Given the description of an element on the screen output the (x, y) to click on. 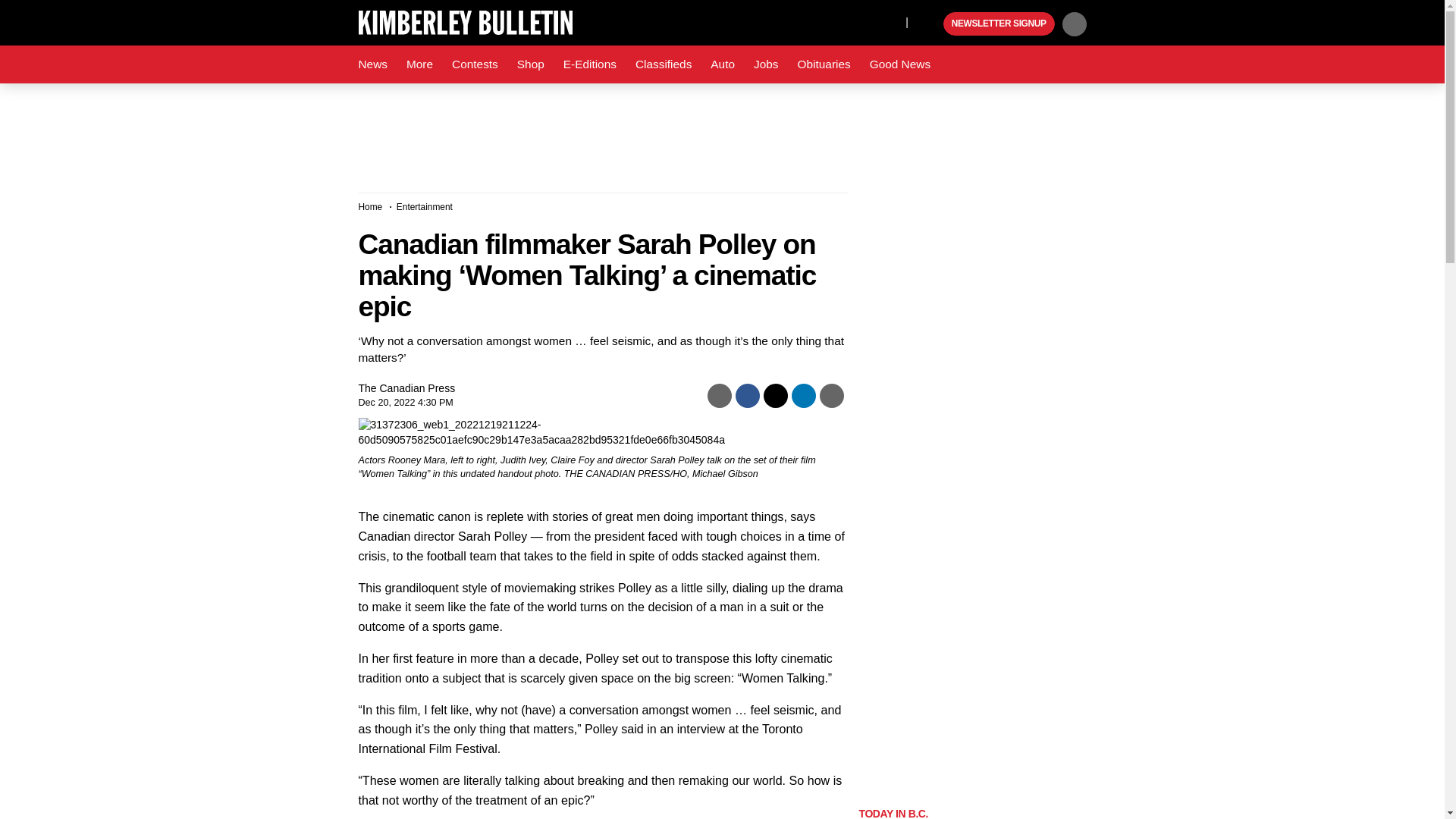
Play (929, 24)
X (889, 21)
NEWSLETTER SIGNUP (998, 24)
News (372, 64)
Black Press Media (929, 24)
